Given the description of an element on the screen output the (x, y) to click on. 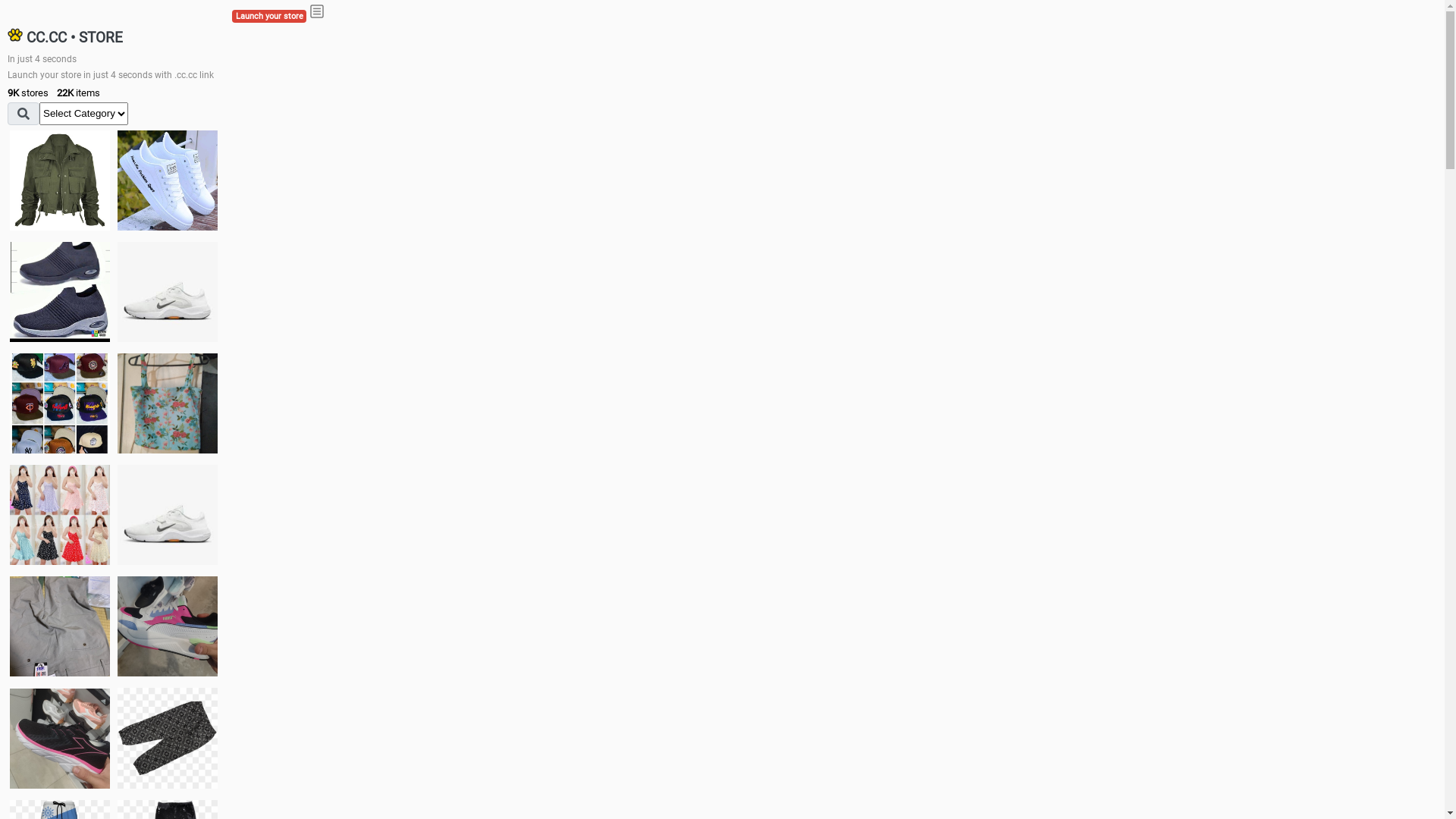
Shoes for boys Element type: hover (167, 291)
shoes for boys Element type: hover (59, 291)
Zapatillas pumas Element type: hover (167, 626)
white shoes Element type: hover (167, 180)
Things we need Element type: hover (59, 403)
jacket Element type: hover (59, 180)
Launch your store Element type: text (269, 15)
Short pant Element type: hover (167, 737)
Ukay cloth Element type: hover (167, 403)
Zapatillas Element type: hover (59, 738)
Shoes Element type: hover (167, 514)
Dress/square nect top Element type: hover (59, 514)
